Given the description of an element on the screen output the (x, y) to click on. 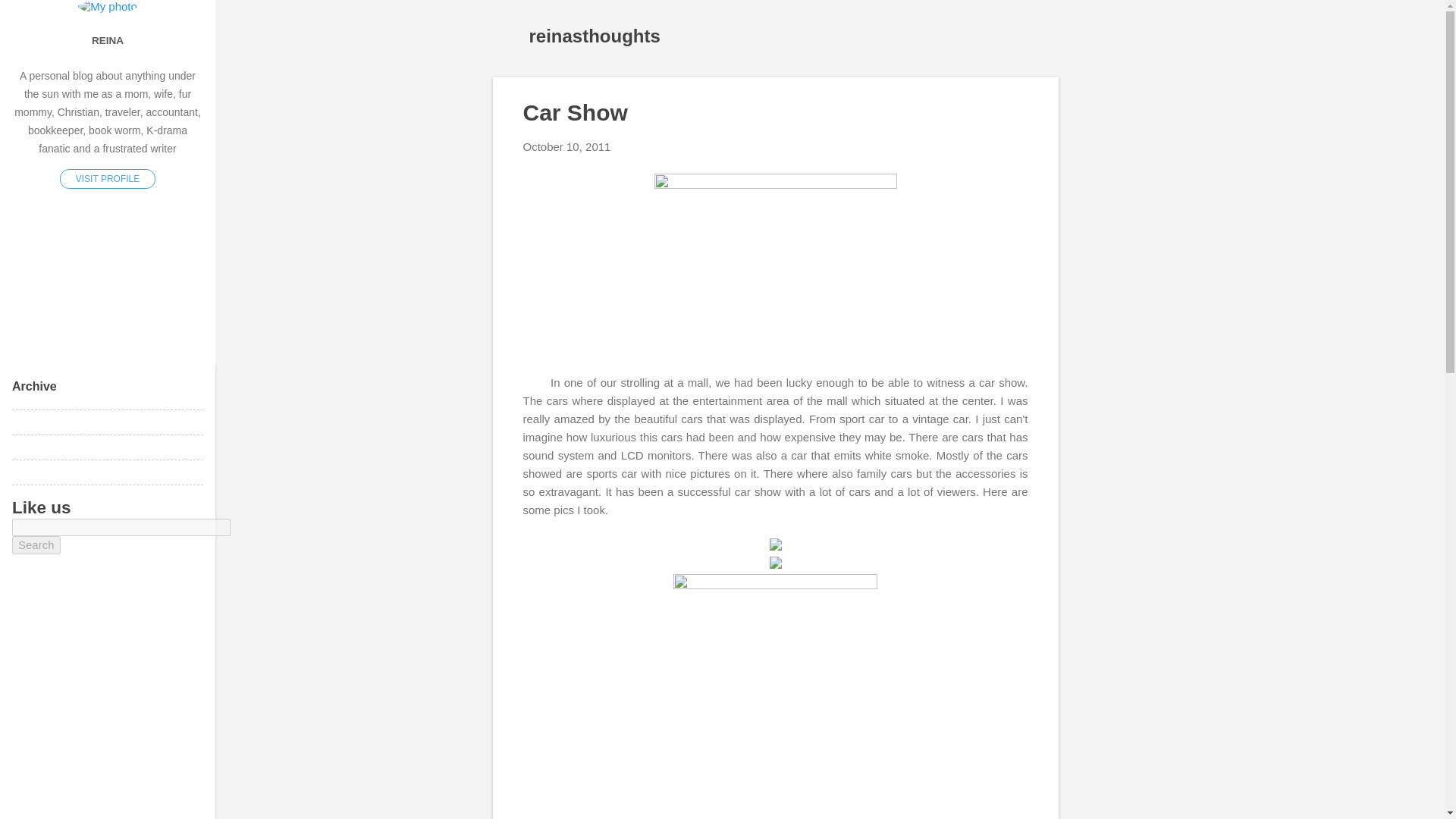
permanent link (566, 146)
reinasthoughts (595, 35)
Car Show (574, 112)
October 10, 2011 (566, 146)
Search (36, 544)
